Given the description of an element on the screen output the (x, y) to click on. 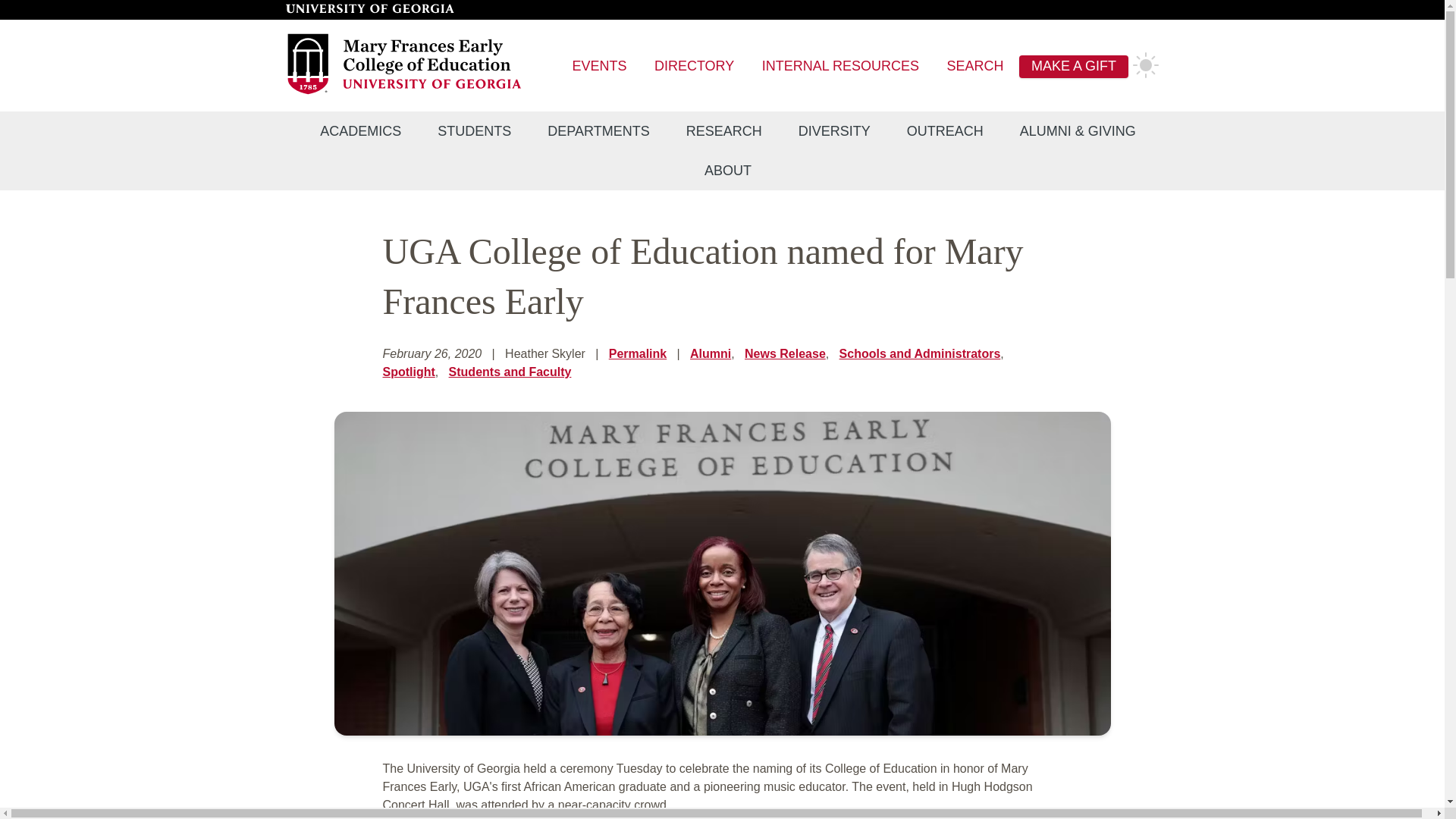
Mary Frances Early College of Education (404, 91)
EVENTS (599, 66)
INTERNAL RESOURCES (840, 66)
RESEARCH (724, 131)
Main UGA Website (368, 9)
MAKE A GIFT (1073, 66)
ACADEMICS (360, 131)
DEPARTMENTS (597, 131)
STUDENTS (474, 131)
DIRECTORY (693, 66)
